Given the description of an element on the screen output the (x, y) to click on. 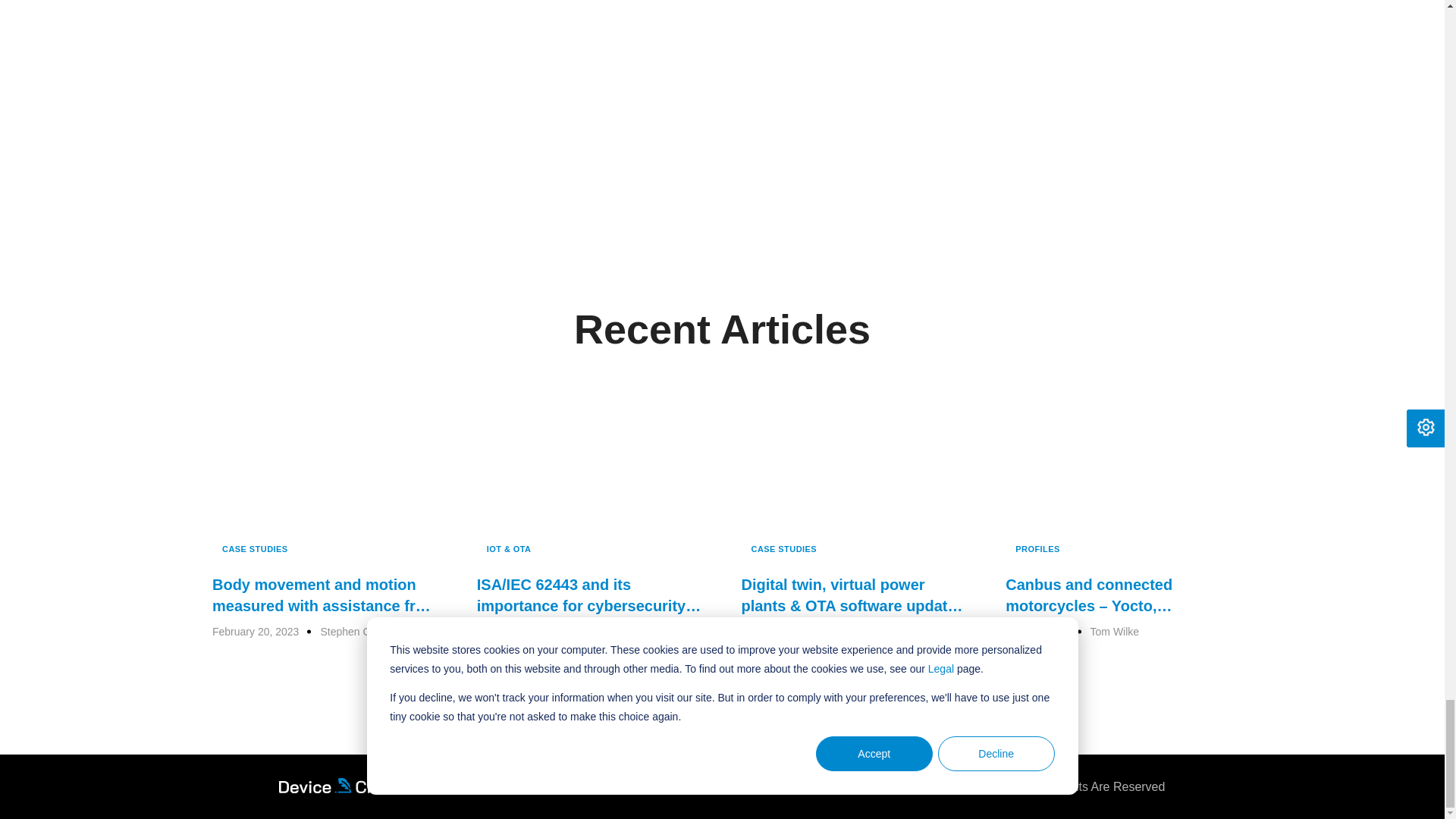
March 23, 2021 (783, 631)
CASE STUDIES (255, 548)
February 8, 2024 (523, 631)
IoT Device Security Checklist (722, 88)
February 20, 2023 (260, 631)
Stephen Cawley (358, 631)
Next Article (722, 50)
July 21, 2021 (1042, 631)
